Given the description of an element on the screen output the (x, y) to click on. 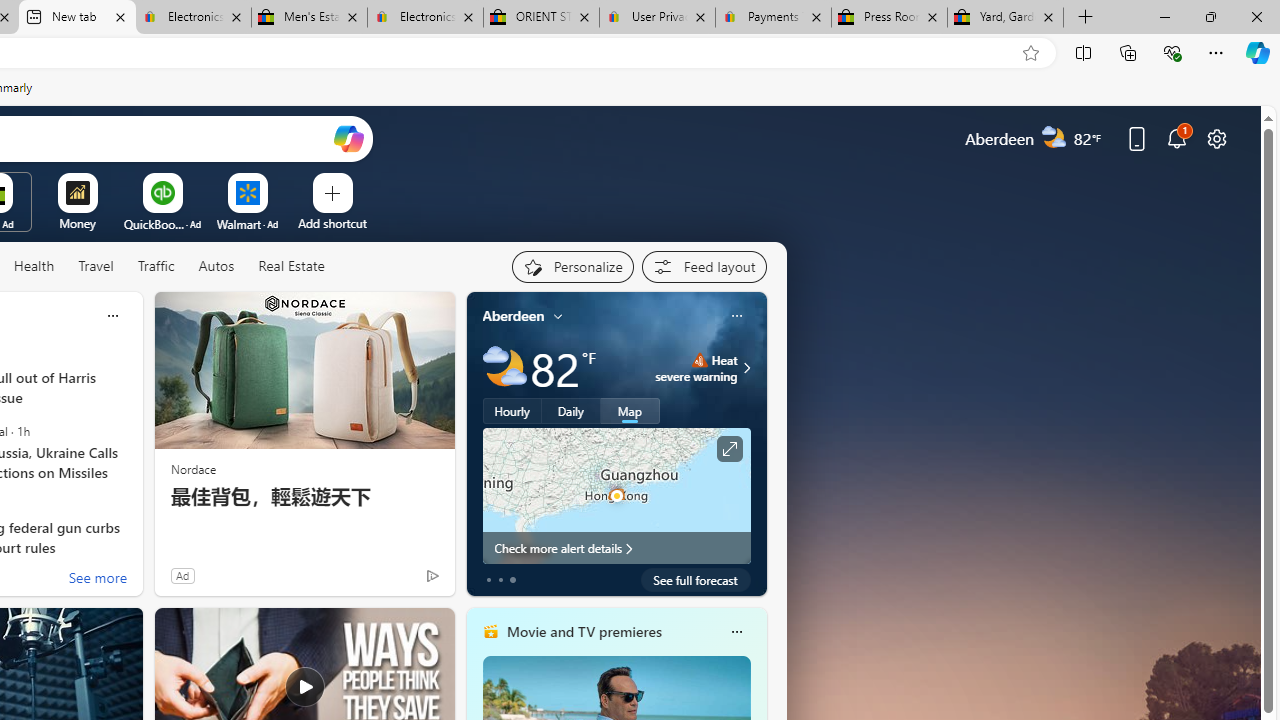
Payments Terms of Use | eBay.com (772, 17)
tab-0 (488, 579)
Press Room - eBay Inc. (889, 17)
Class: weather-arrow-glyph (746, 367)
Personalize your feed" (571, 266)
Hourly (511, 411)
Class: icon-img (736, 632)
Traffic (155, 265)
Click to see more information (728, 449)
Autos (216, 267)
